Given the description of an element on the screen output the (x, y) to click on. 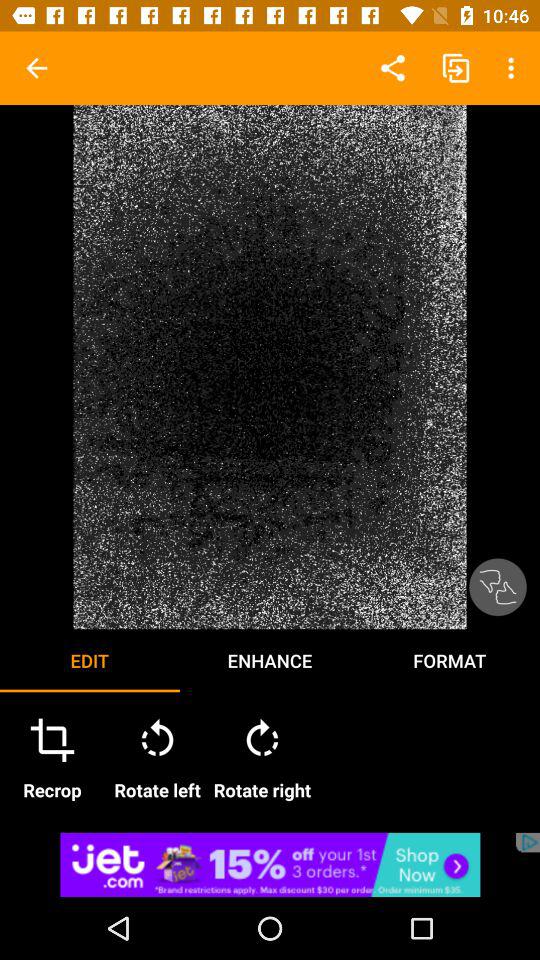
rate item (497, 587)
